Given the description of an element on the screen output the (x, y) to click on. 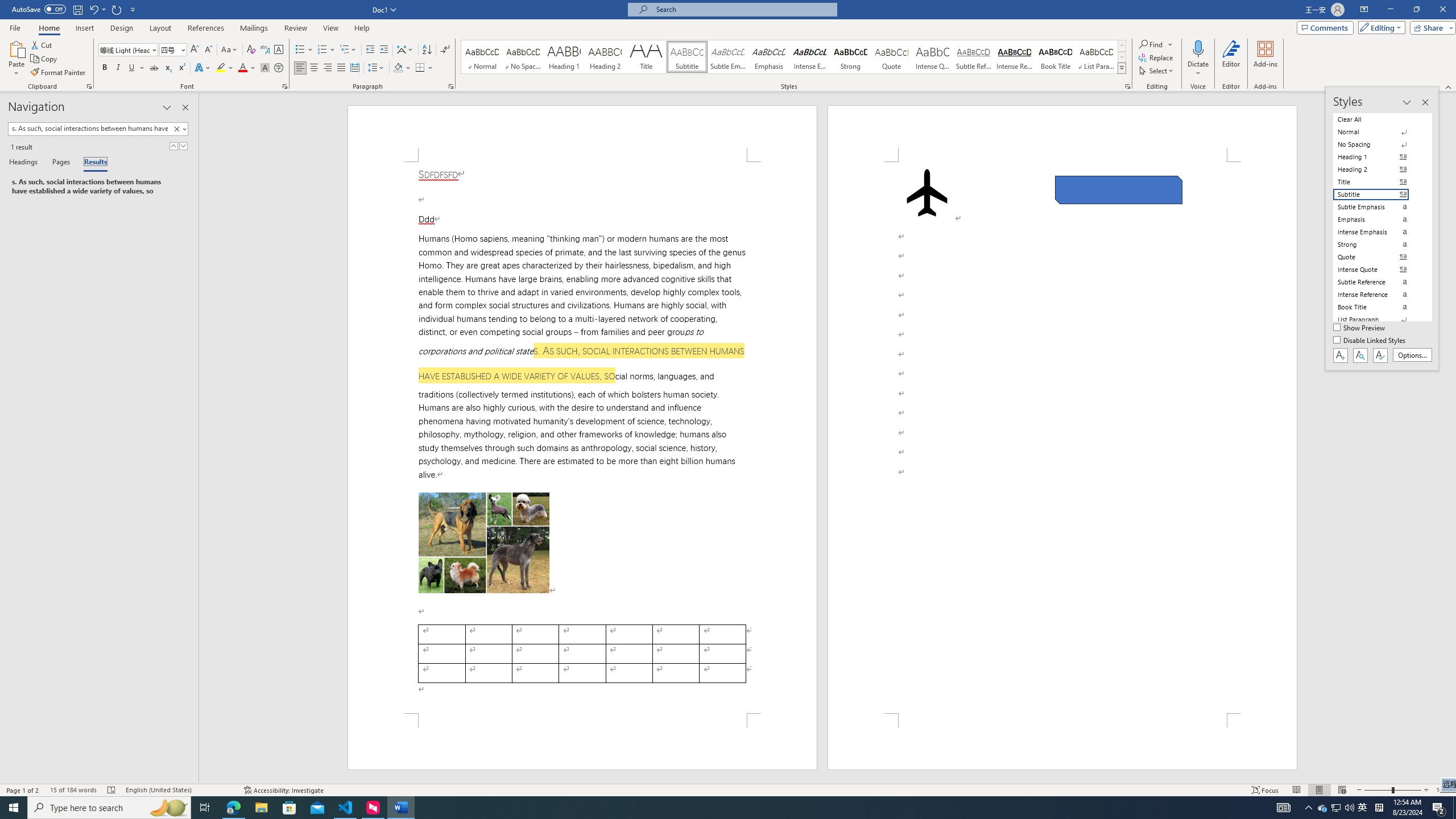
Airplane with solid fill (926, 192)
Heading 2 (605, 56)
Repeat Style (117, 9)
